Given the description of an element on the screen output the (x, y) to click on. 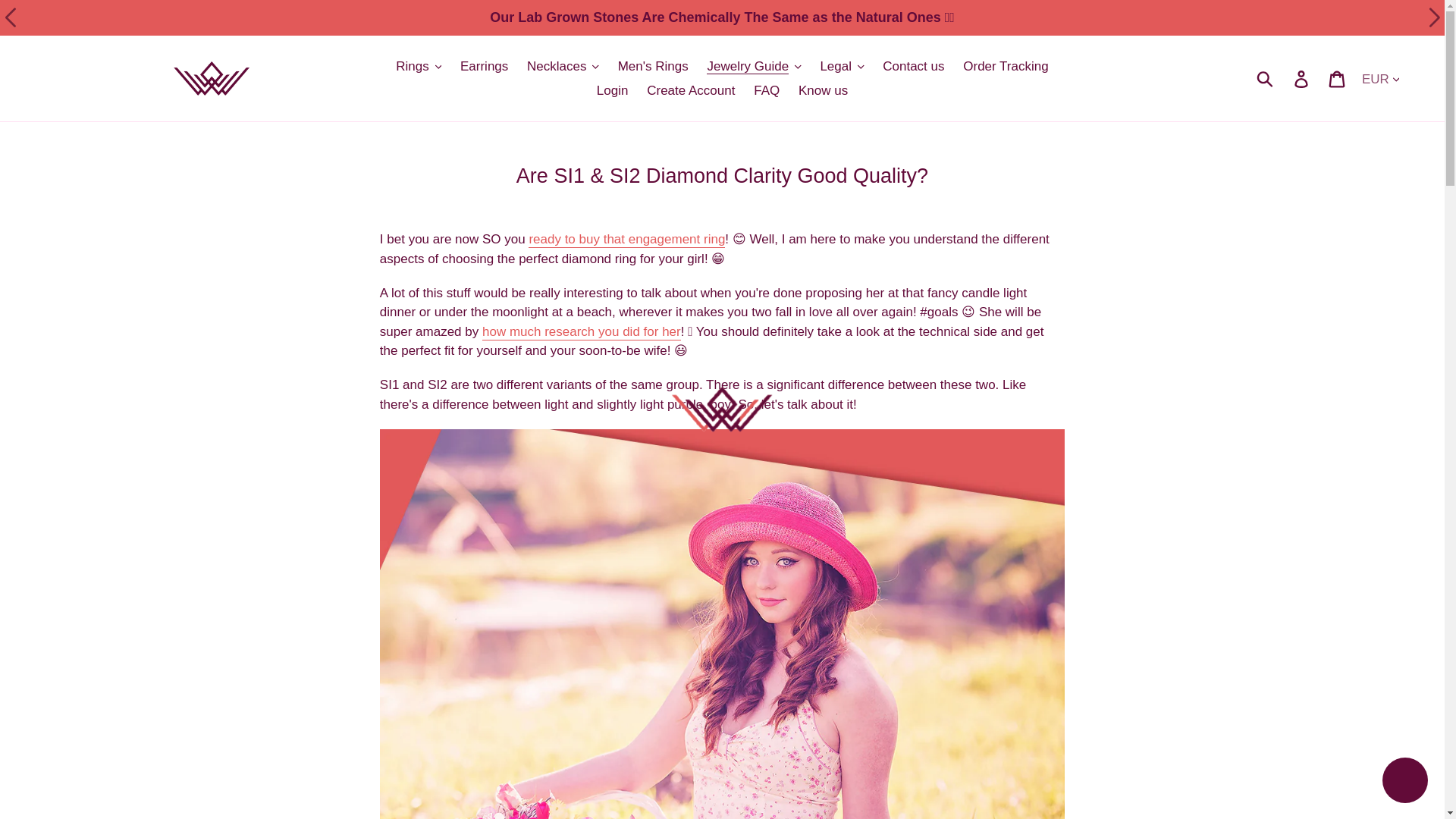
FAQ (766, 90)
Login (612, 90)
Earrings (483, 66)
Know us (823, 90)
Shopify online store chat (1404, 781)
Earrings (483, 66)
Create Account (690, 90)
Order Tracking (1005, 66)
How Do I Choose an Engagement Ring for My Girlfriend? (581, 332)
Contact us (913, 66)
Men's Rings (652, 66)
Men's Rings (652, 66)
What Do I Need to Know about Buying an Engagement Ring? (626, 239)
